Given the description of an element on the screen output the (x, y) to click on. 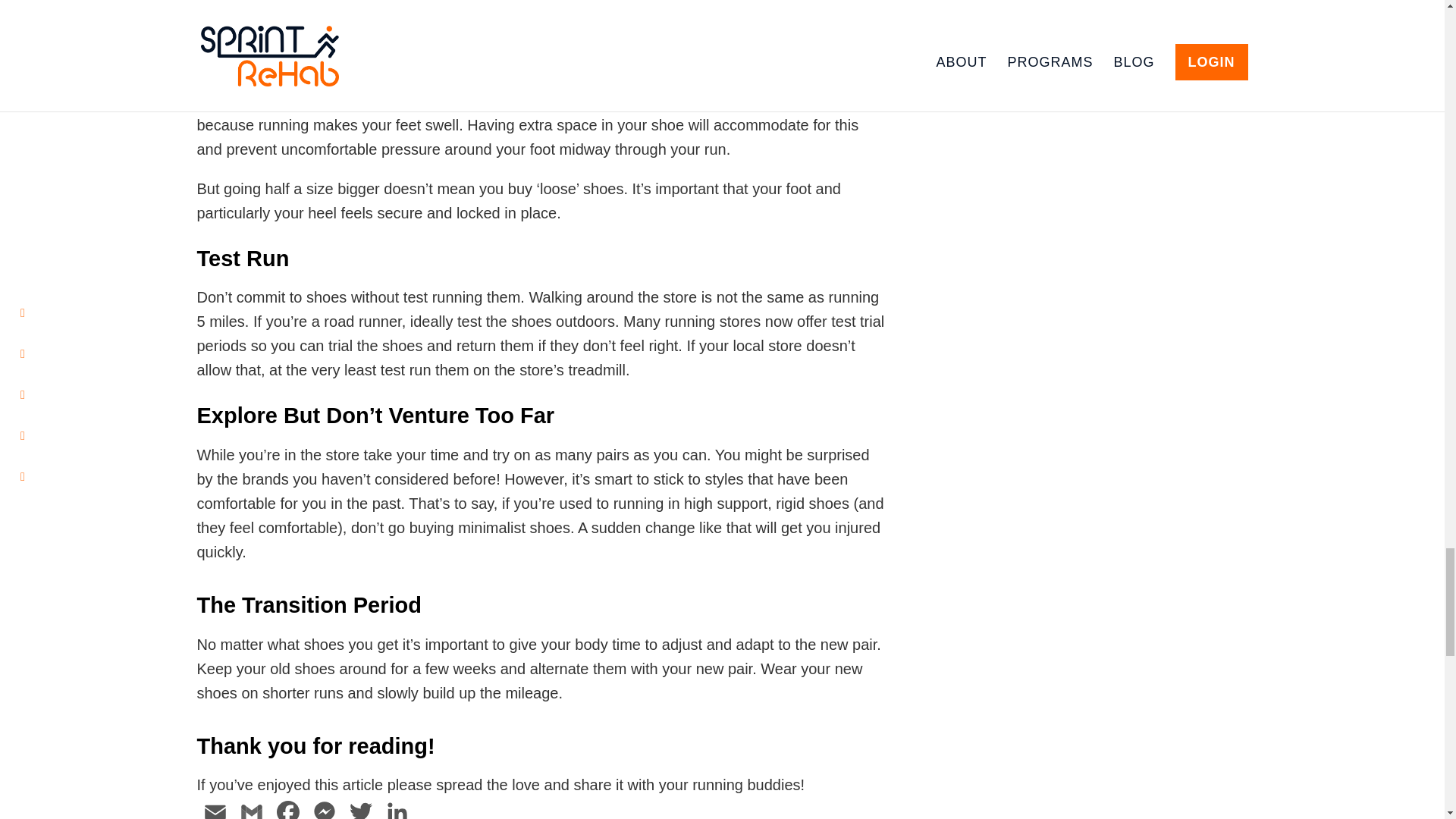
Messenger (323, 807)
LinkedIn (396, 807)
Facebook (287, 807)
Twitter (360, 807)
Messenger (323, 807)
Twitter (360, 807)
Email (214, 807)
Gmail (250, 807)
LinkedIn (396, 807)
Gmail (250, 807)
Facebook (287, 807)
Email (214, 807)
